Given the description of an element on the screen output the (x, y) to click on. 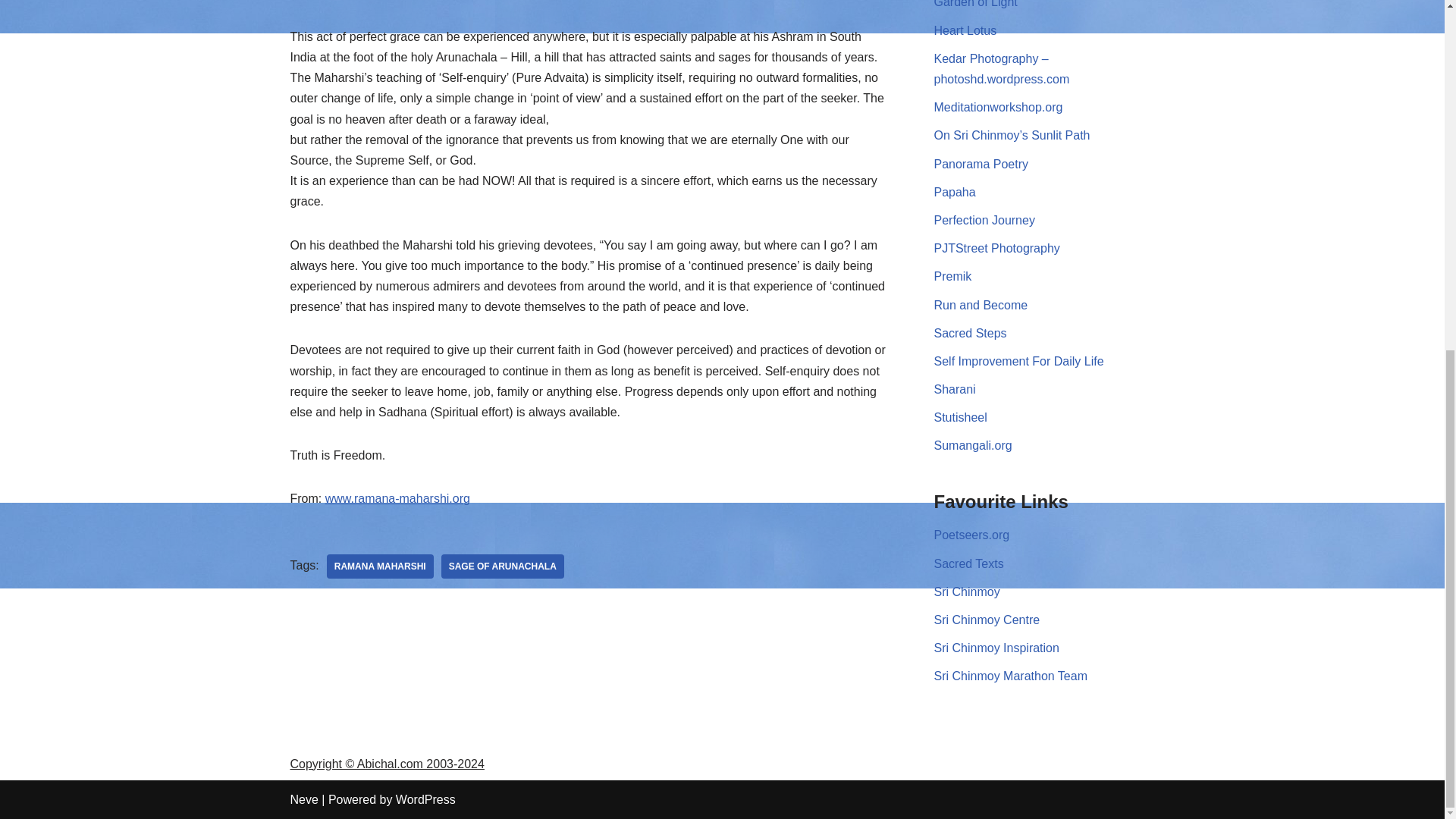
Garden of Light (975, 4)
Run and Become (980, 305)
Chain of gift shops in Ottawa, Canada (975, 4)
PJTStreet Photography (996, 247)
Panorama Poetry (981, 164)
Perfection Journey (984, 219)
Self Improvement For Daily Life (1018, 360)
www.ramana-maharshi.org (397, 498)
RAMANA MAHARSHI (379, 566)
Kedars photos (1002, 68)
